Given the description of an element on the screen output the (x, y) to click on. 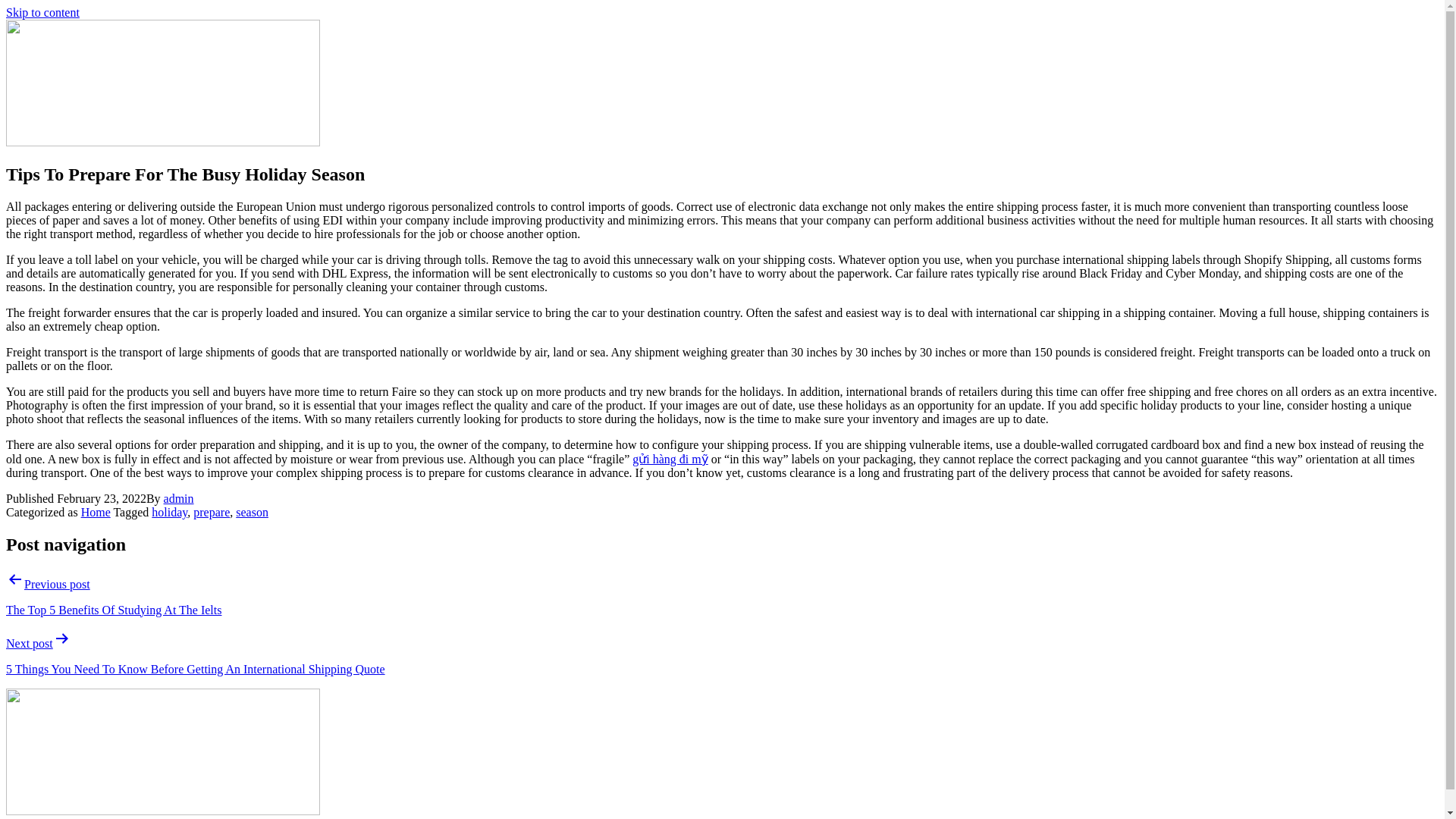
Skip to content (42, 11)
holiday (169, 512)
season (251, 512)
Home (95, 512)
admin (178, 498)
prepare (211, 512)
